Given the description of an element on the screen output the (x, y) to click on. 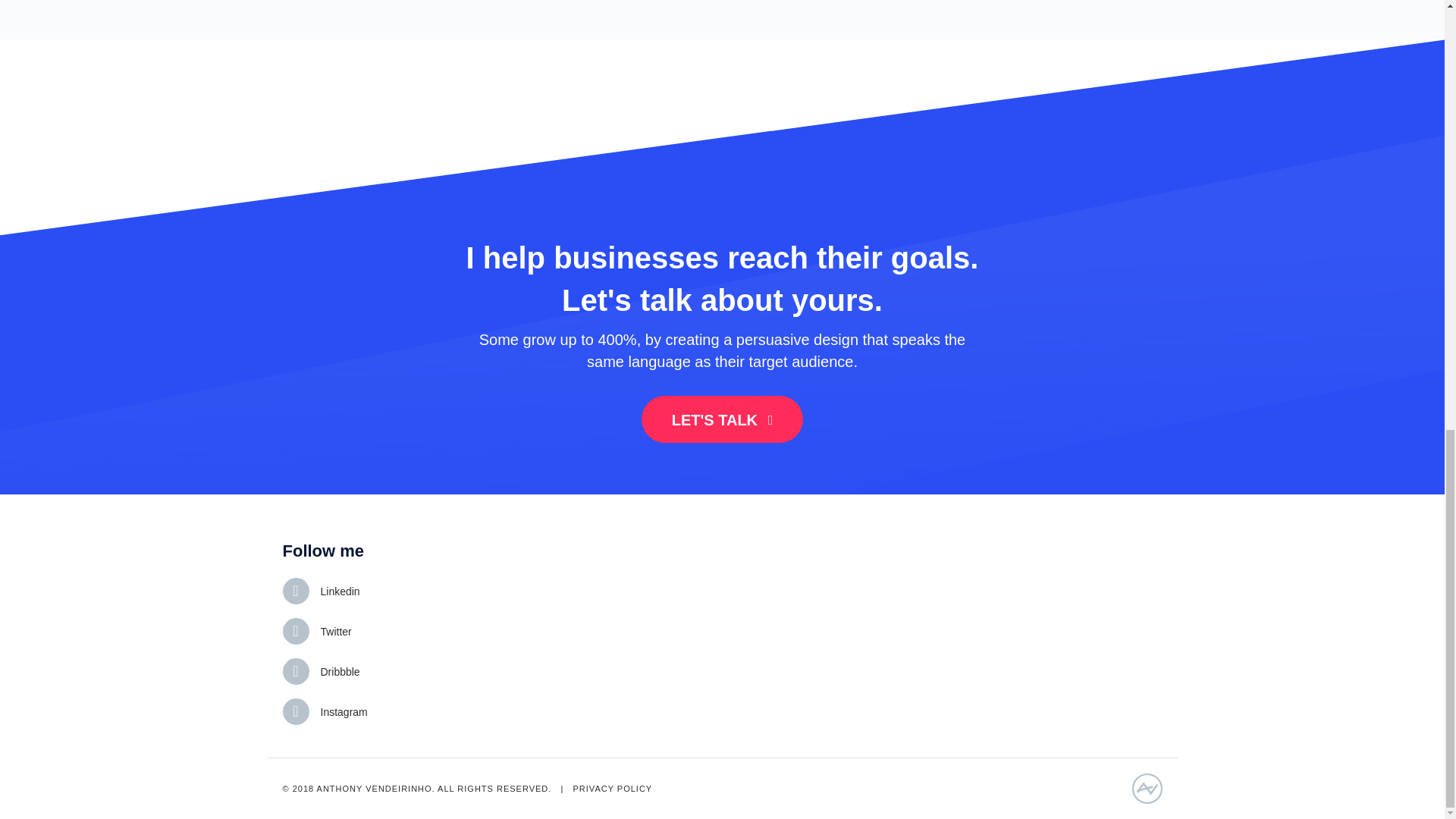
PRIVACY POLICY (612, 788)
Instagram (343, 711)
Twitter (335, 631)
Linkedin (339, 590)
logo-footer (1146, 788)
Dribbble (339, 671)
LET'S TALK (722, 419)
